Given the description of an element on the screen output the (x, y) to click on. 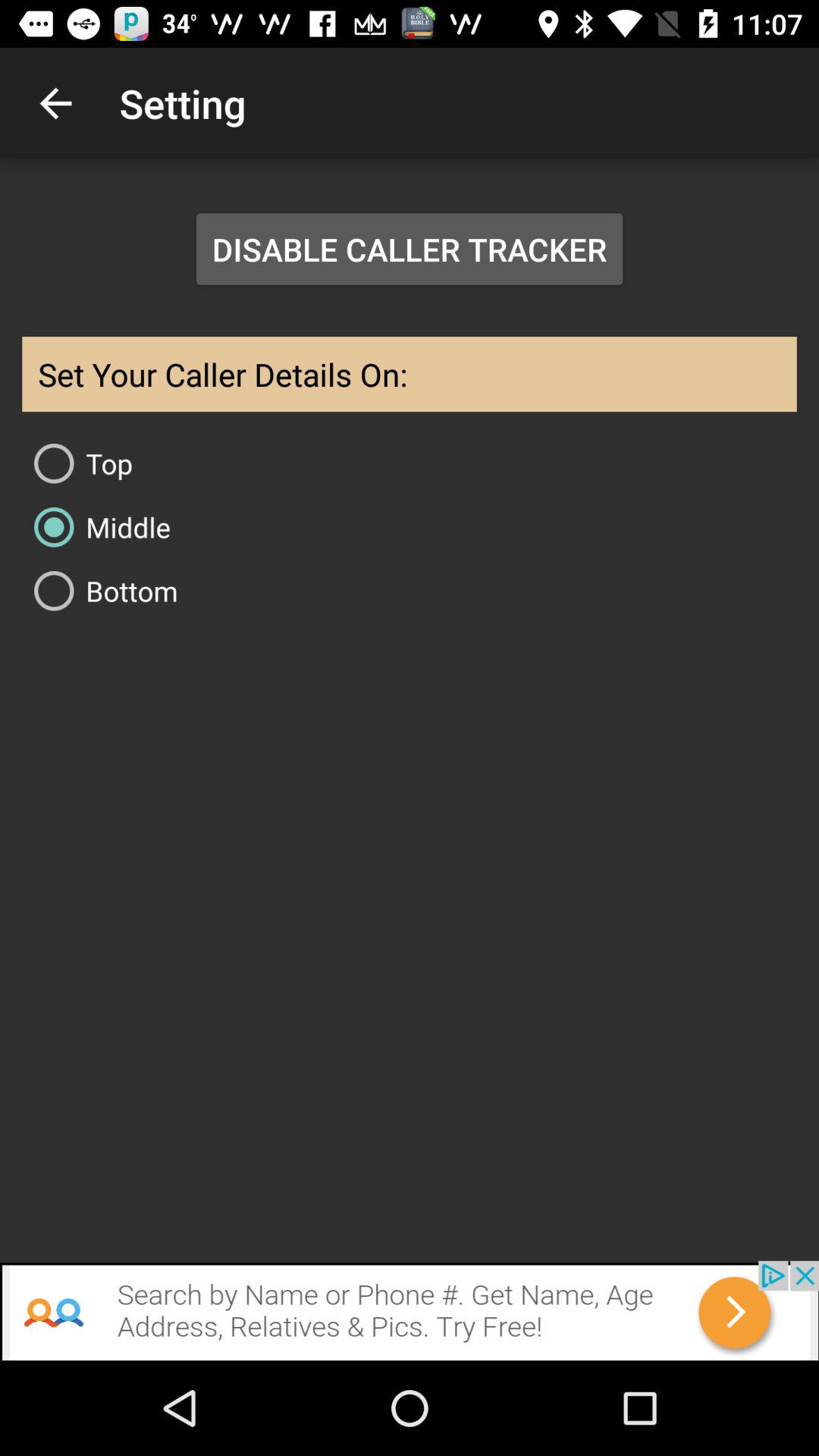
search by name or phone get name age address relatives pics try free (409, 1310)
